Given the description of an element on the screen output the (x, y) to click on. 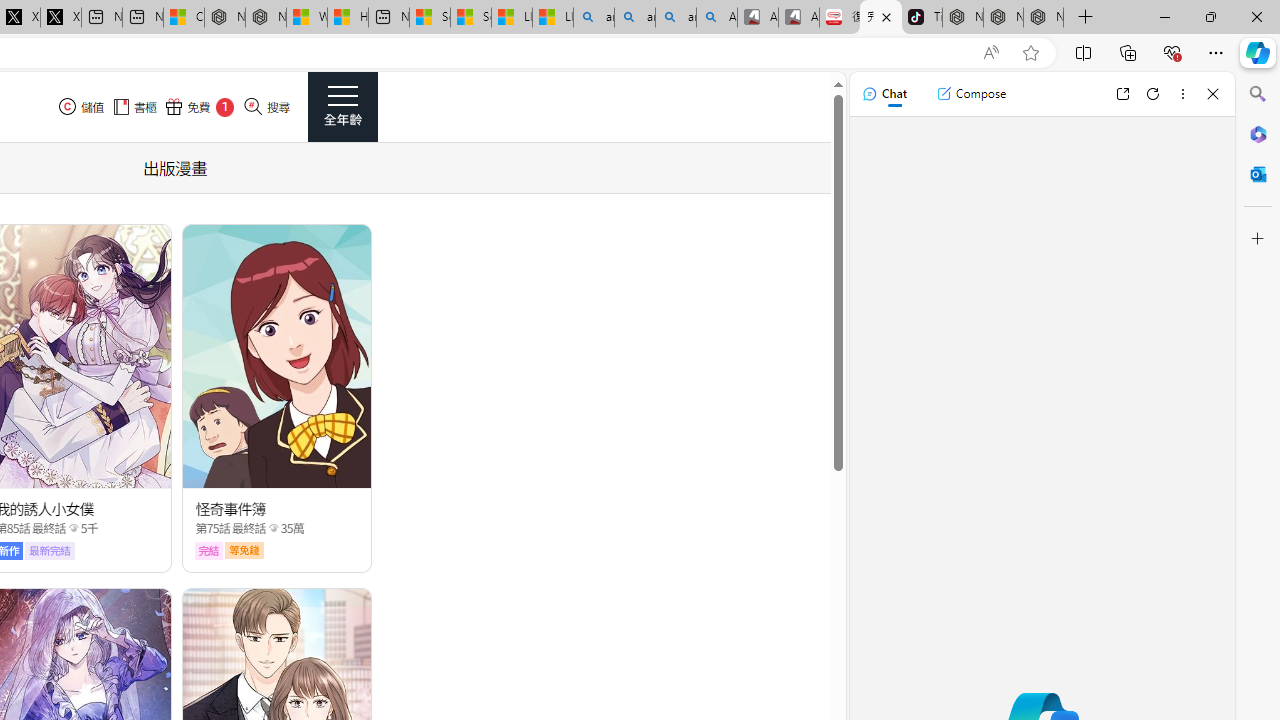
Microsoft 365 (1258, 133)
amazon - Search Images (675, 17)
Huge shark washes ashore at New York City beach | Watch (347, 17)
All Cubot phones (799, 17)
TikTok (922, 17)
